Given the description of an element on the screen output the (x, y) to click on. 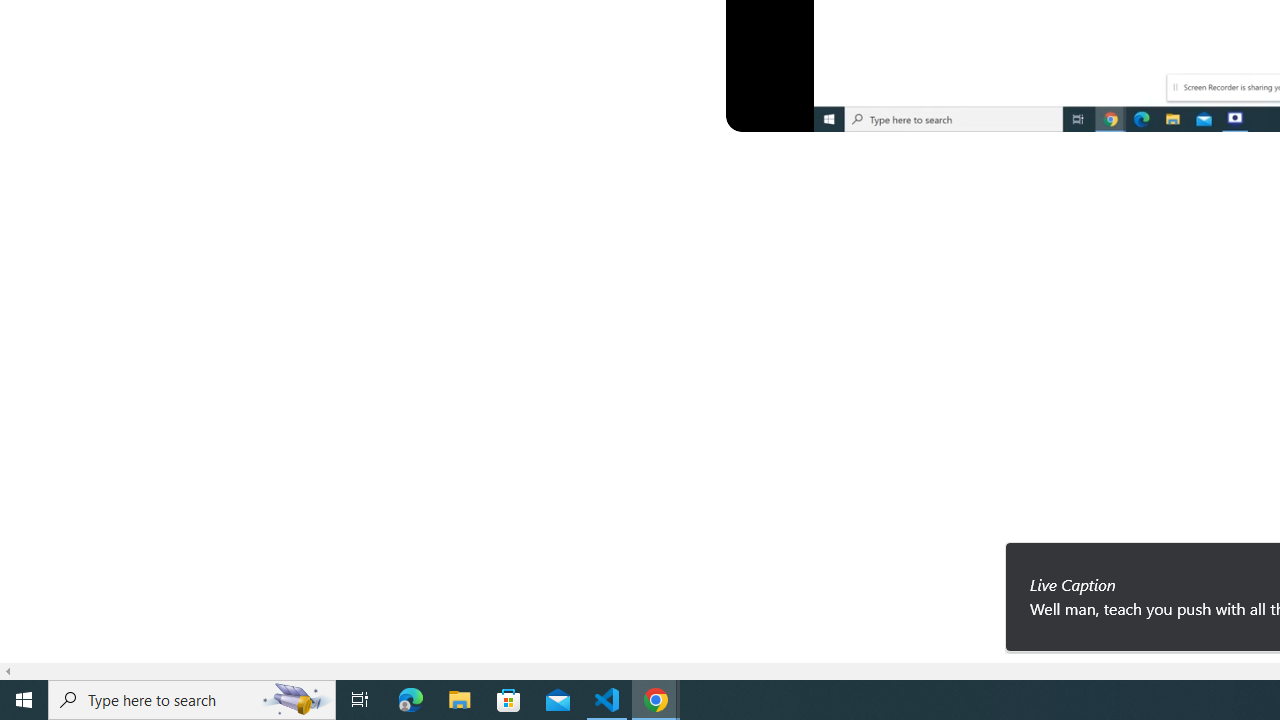
Mute (m) (803, 111)
Play (k) (760, 111)
